Given the description of an element on the screen output the (x, y) to click on. 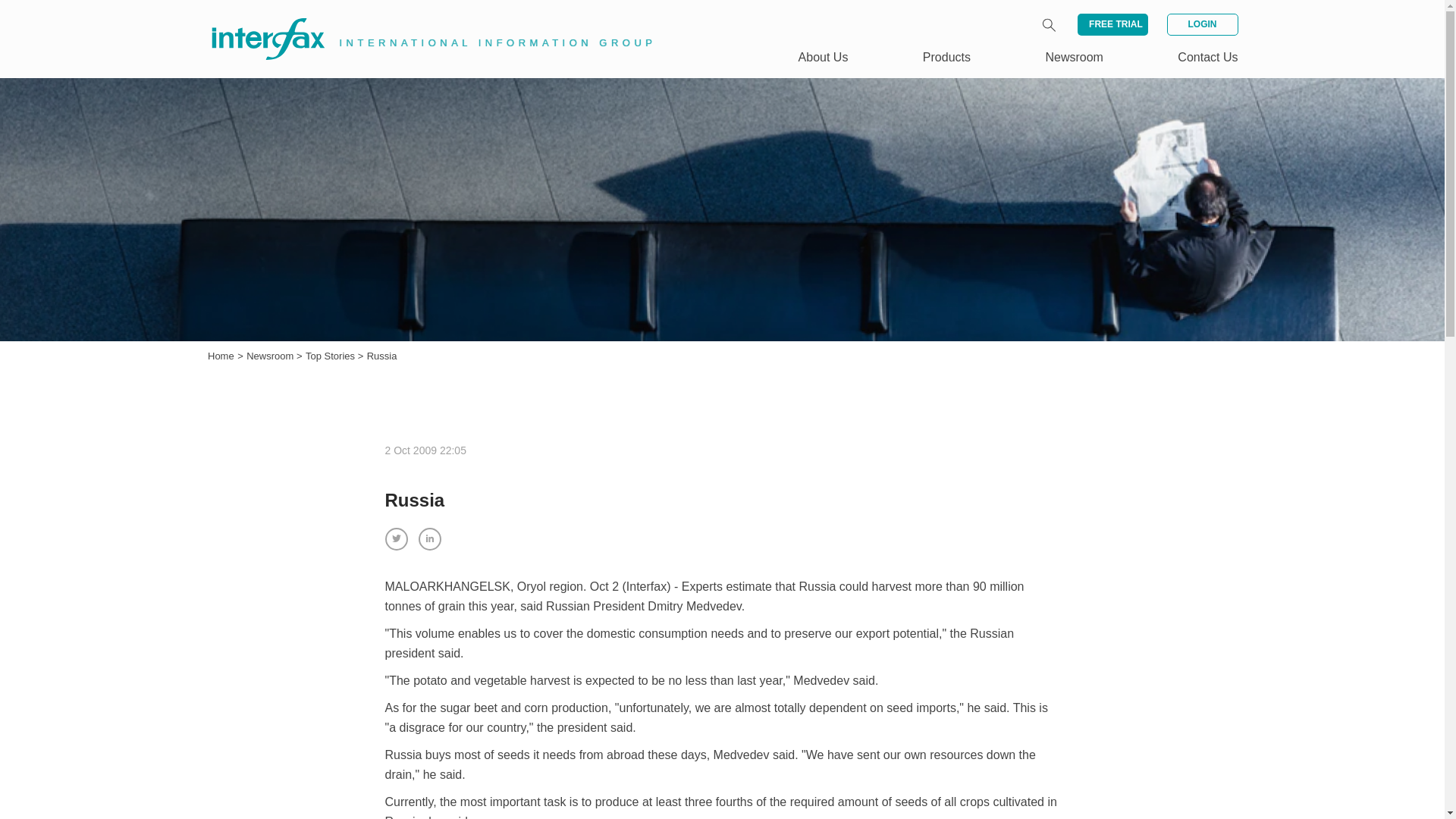
LOGIN (1201, 24)
Newsroom (1073, 56)
INTERNATIONAL INFORMATION GROUP (421, 20)
Newsroom (271, 355)
Home (221, 355)
FREE TRIAL (1112, 24)
Top Stories (331, 355)
Contact Us (1207, 56)
Newsroom (271, 355)
About Us (822, 56)
Products (947, 56)
Contact Us (1207, 56)
